Given the description of an element on the screen output the (x, y) to click on. 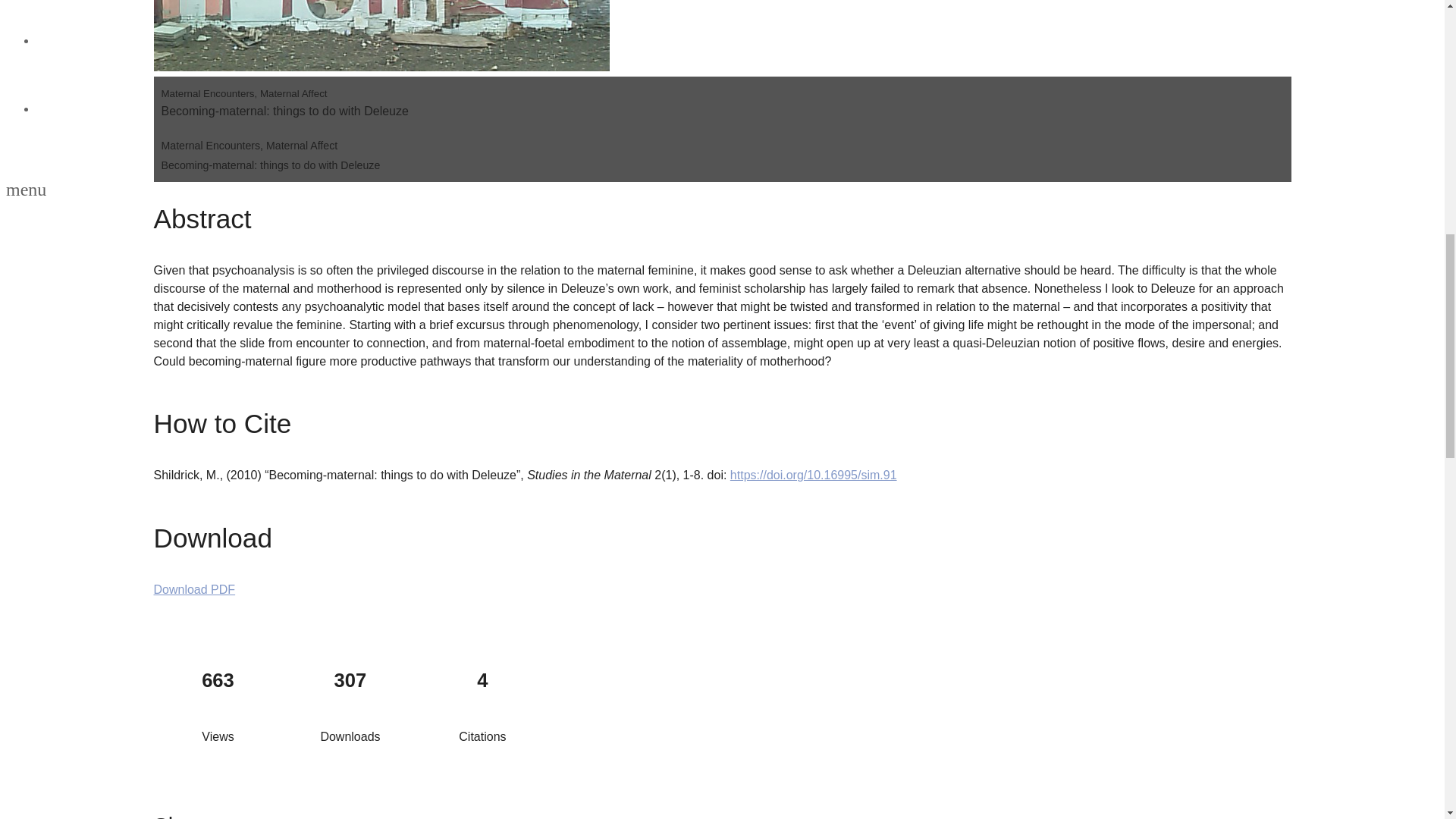
menu (25, 191)
Register (60, 108)
Login (52, 40)
